Given the description of an element on the screen output the (x, y) to click on. 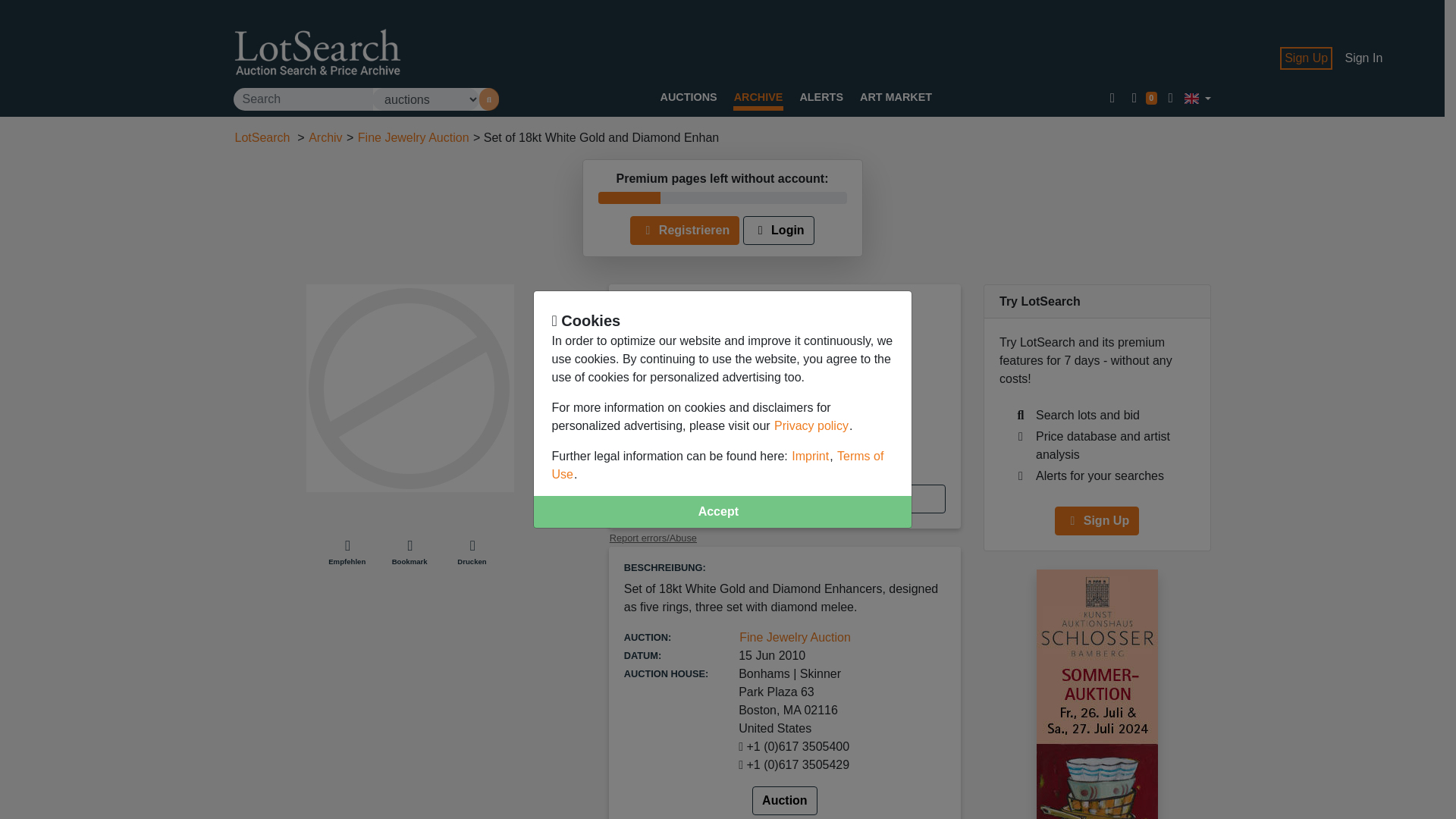
ALERTS (820, 96)
ART MARKET (896, 96)
LotSearch (260, 137)
ARCHIVE (758, 96)
Bookmarks (1141, 98)
AUCTIONS (688, 96)
0 (1141, 98)
Archiv (324, 137)
Sign In (1363, 57)
Sign Up (1305, 57)
